Given the description of an element on the screen output the (x, y) to click on. 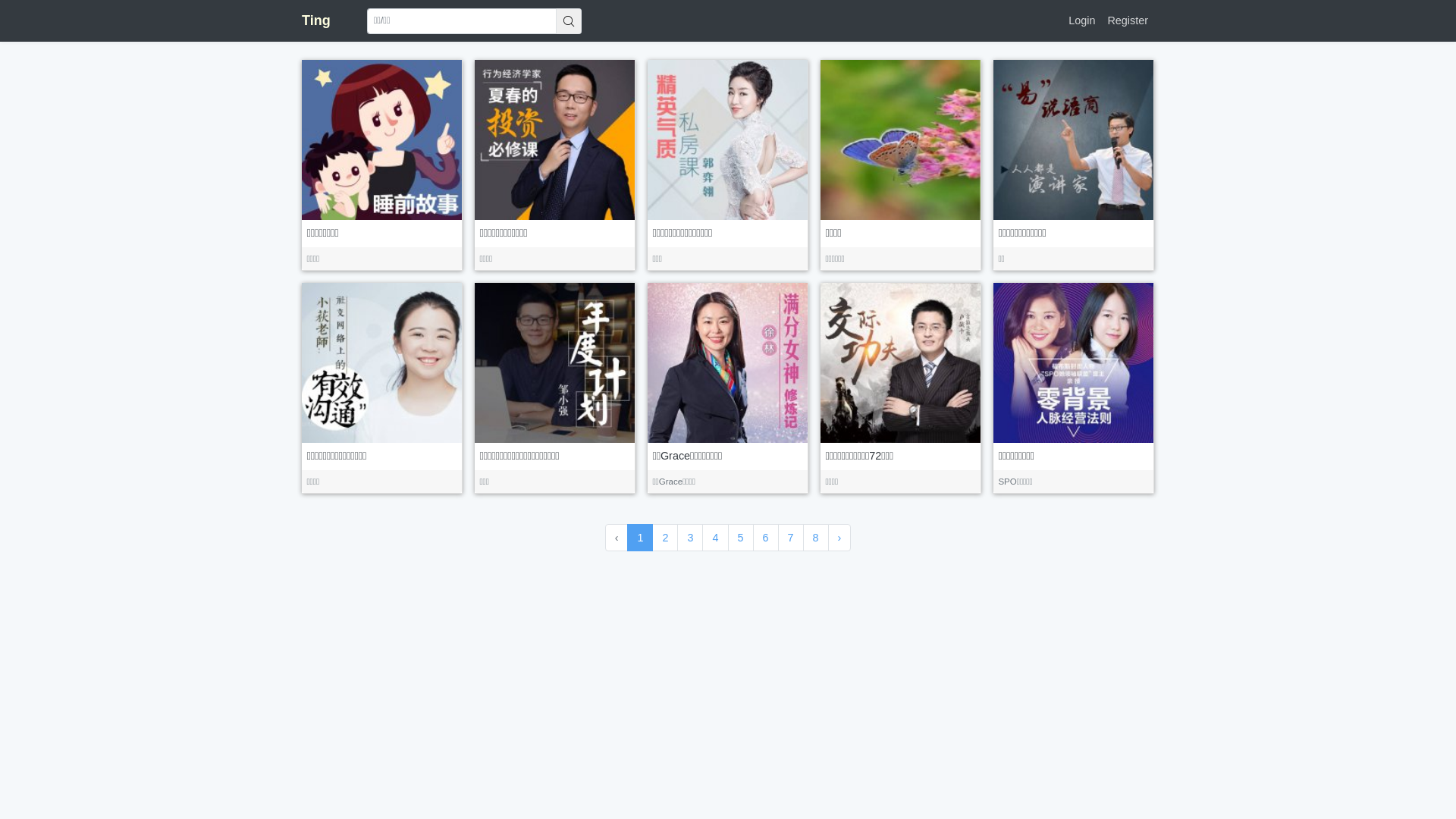
8 Element type: text (815, 537)
Login Element type: text (1081, 20)
Ting Element type: text (315, 20)
6 Element type: text (765, 537)
Register Element type: text (1127, 20)
5 Element type: text (740, 537)
2 Element type: text (664, 537)
4 Element type: text (715, 537)
7 Element type: text (790, 537)
3 Element type: text (689, 537)
